Given the description of an element on the screen output the (x, y) to click on. 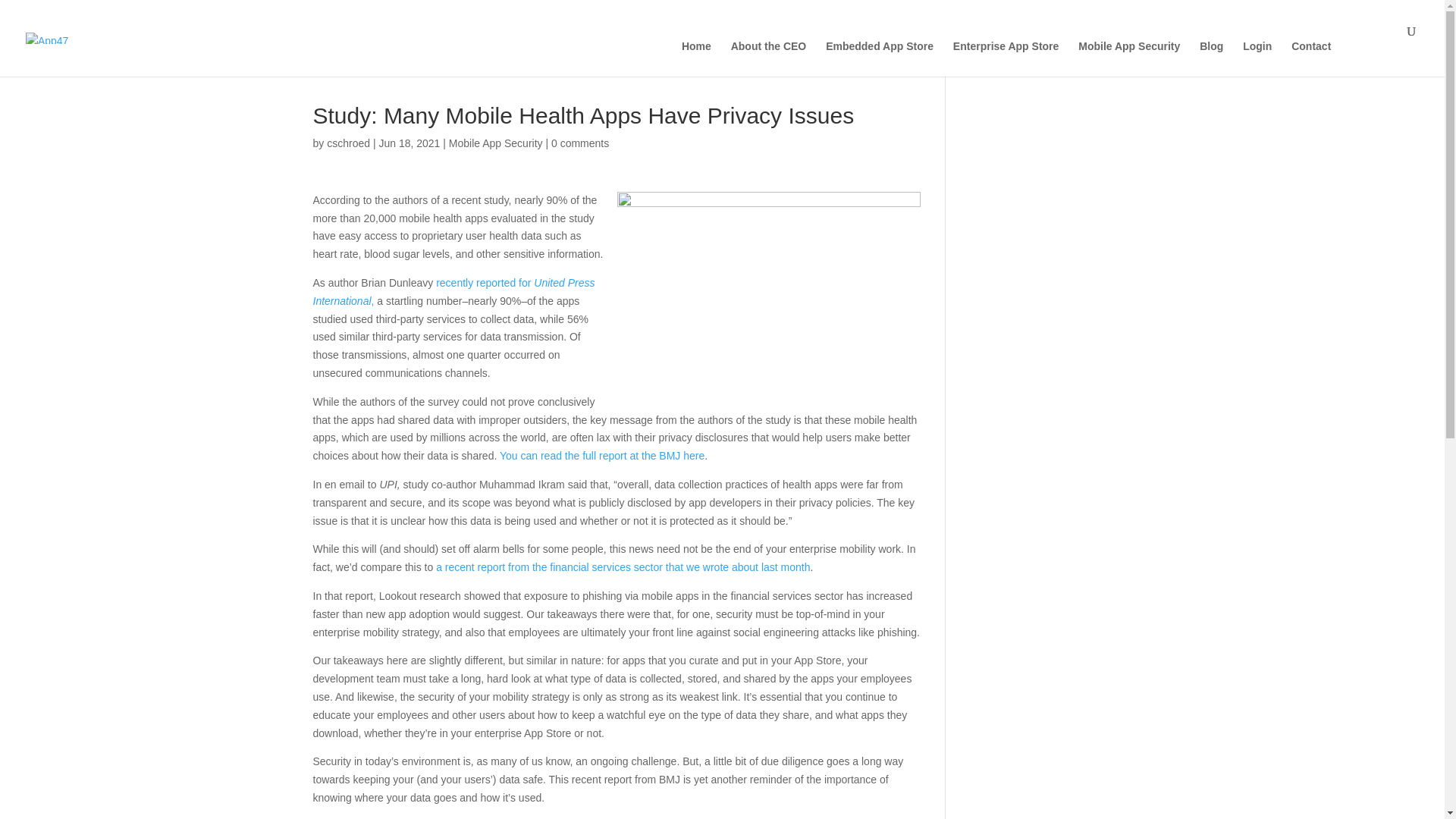
cschroed (347, 143)
recently reported for United Press International, (453, 291)
0 comments (579, 143)
You can read the full report at the BMJ here (601, 455)
Contact (1310, 58)
About the CEO (768, 58)
Enterprise App Store (1006, 58)
Mobile App Security (495, 143)
Embedded App Store (879, 58)
Posts by cschroed (347, 143)
